Given the description of an element on the screen output the (x, y) to click on. 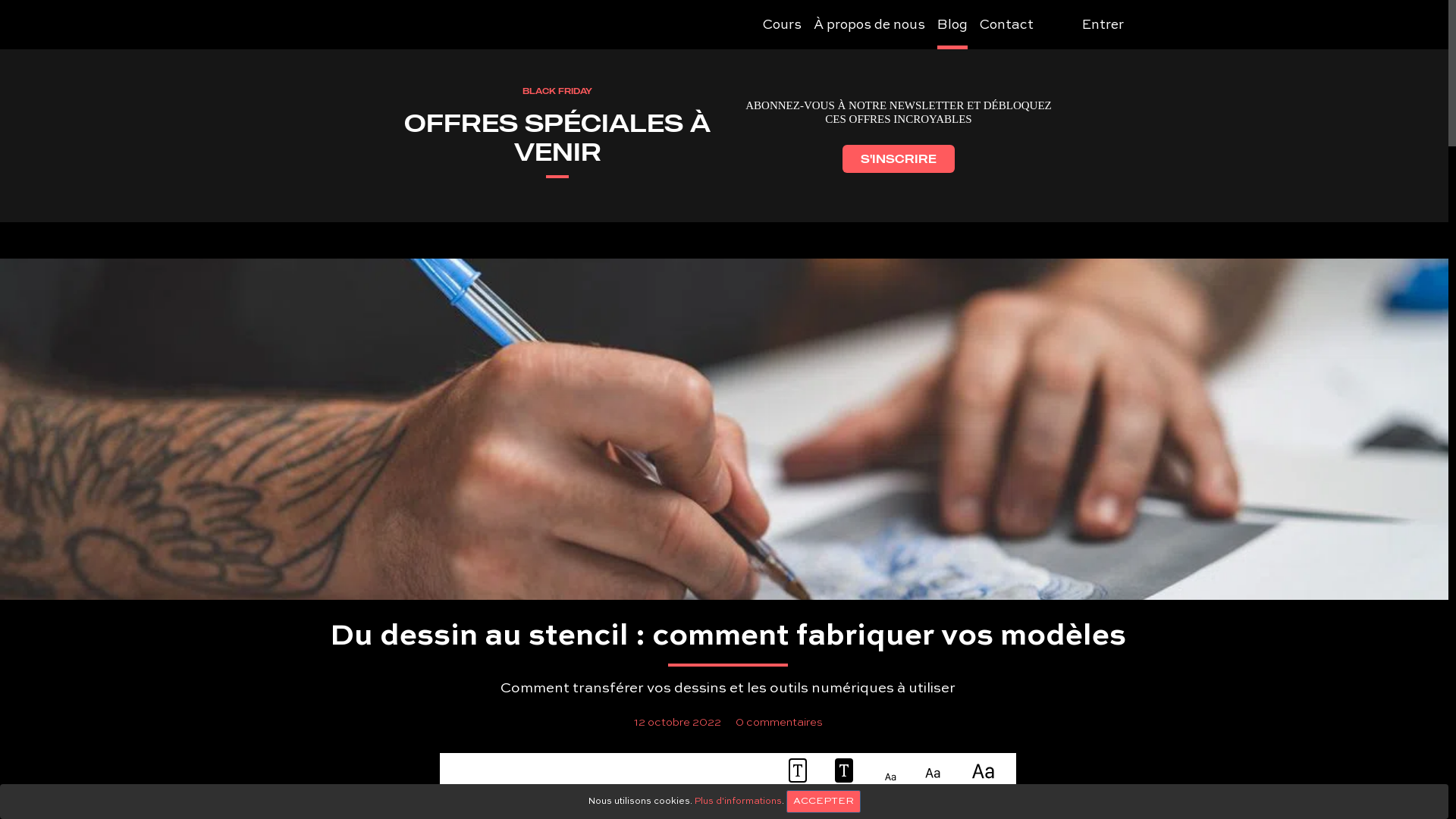
Taille de police plus grande Element type: hover (982, 770)
Plus d'informations Element type: text (737, 801)
0 commentaires Element type: text (778, 722)
Fond blanc, texte noir Element type: hover (797, 770)
Cours Element type: text (781, 24)
Fond noir, texte blanc Element type: hover (844, 770)
Entrer Element type: text (1102, 24)
S'INSCRIRE Element type: text (898, 158)
ACCEPTER Element type: text (822, 801)
Taille de police normale Element type: hover (936, 770)
Contact Element type: text (1006, 24)
Taille de police plus petite Element type: hover (890, 770)
Blog Element type: text (952, 26)
